Given the description of an element on the screen output the (x, y) to click on. 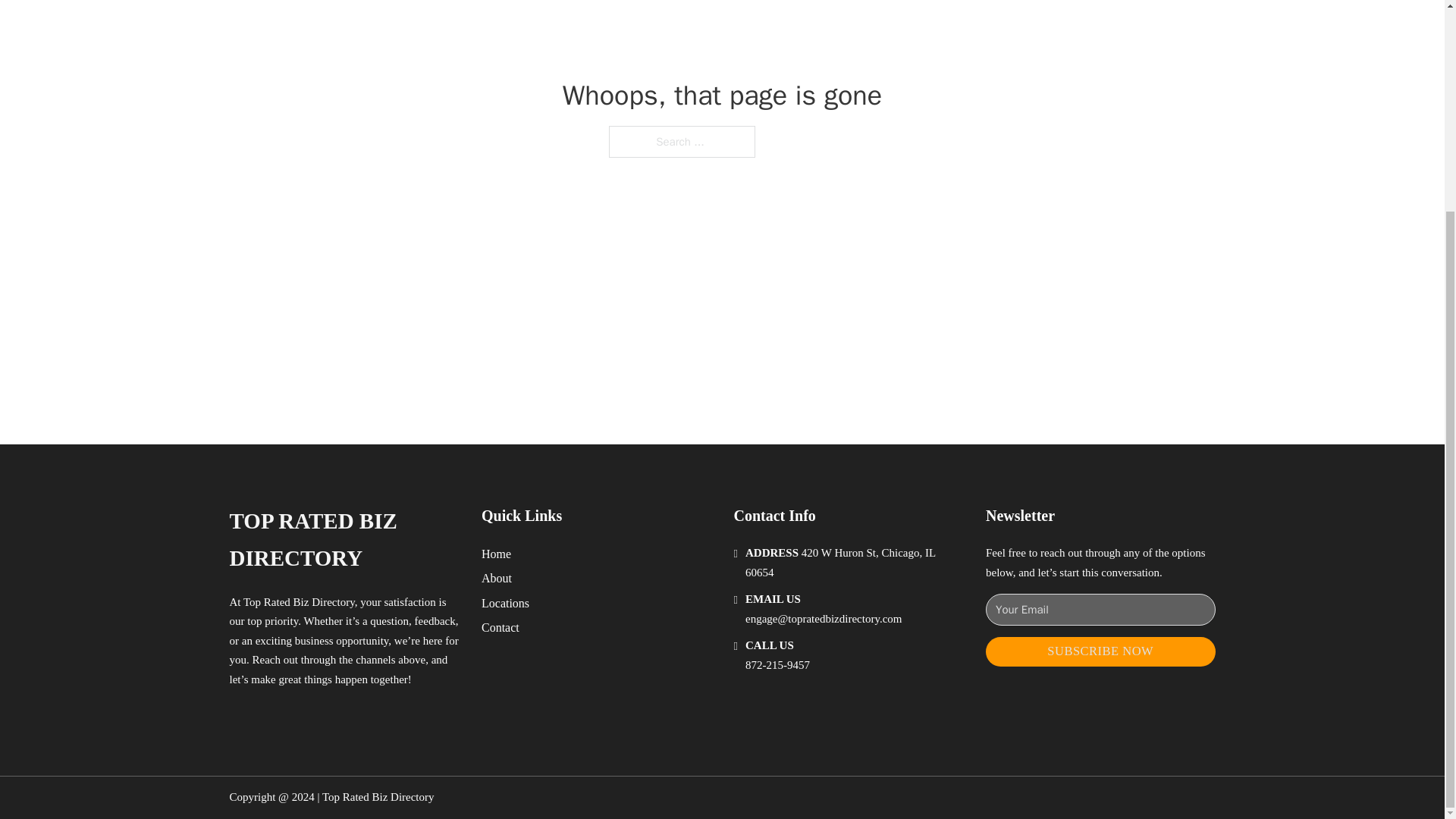
SUBSCRIBE NOW (1100, 651)
Locations (505, 602)
Contact (500, 627)
Home (496, 553)
872-215-9457 (777, 664)
About (496, 578)
TOP RATED BIZ DIRECTORY (343, 540)
